Given the description of an element on the screen output the (x, y) to click on. 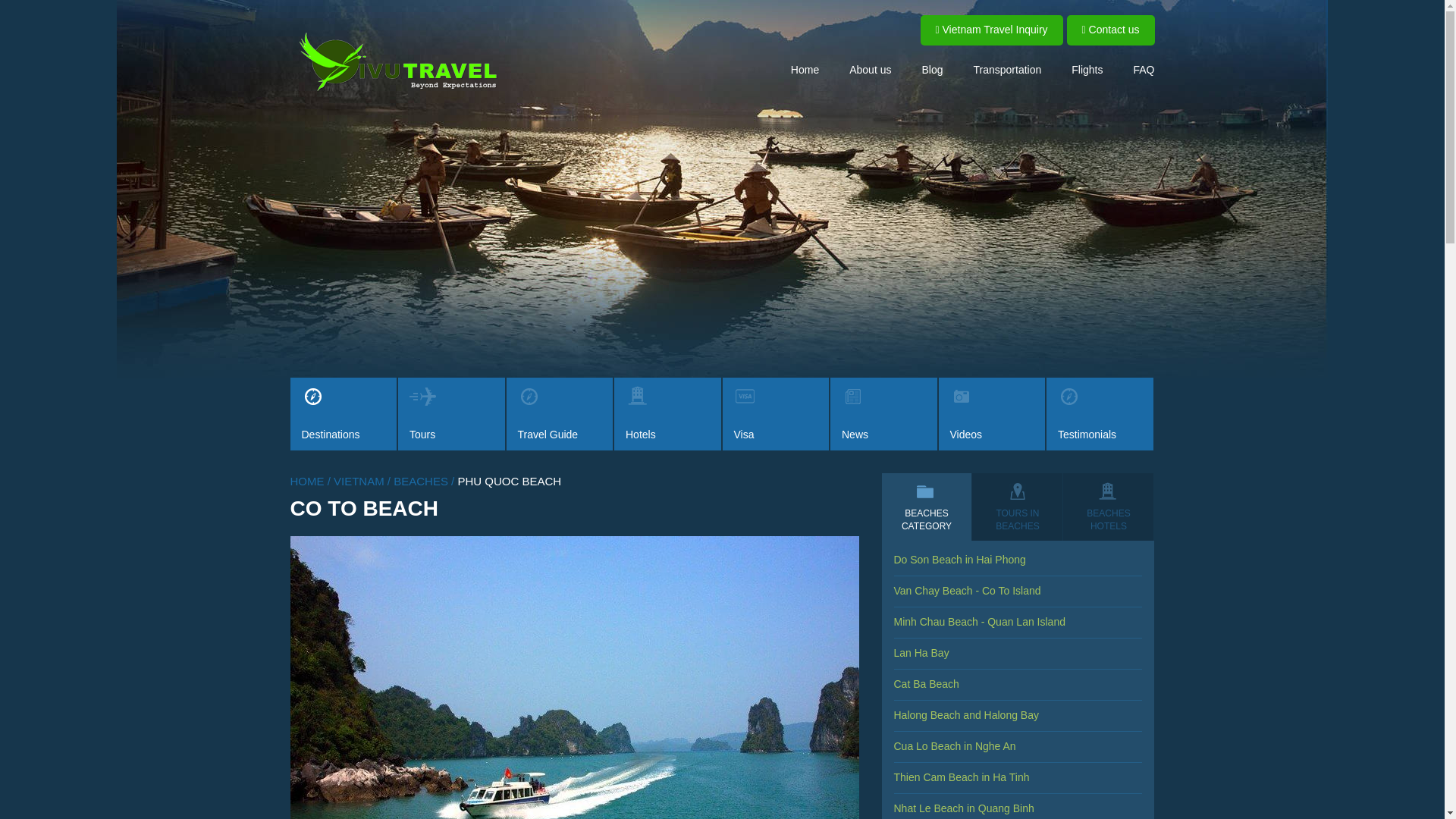
Videos (992, 413)
Tours (451, 413)
Contact us (1110, 30)
Visa (775, 413)
Destinations (342, 413)
News (883, 413)
Hotels (667, 413)
About us (869, 69)
FAQ (1143, 69)
Blog (931, 69)
